Given the description of an element on the screen output the (x, y) to click on. 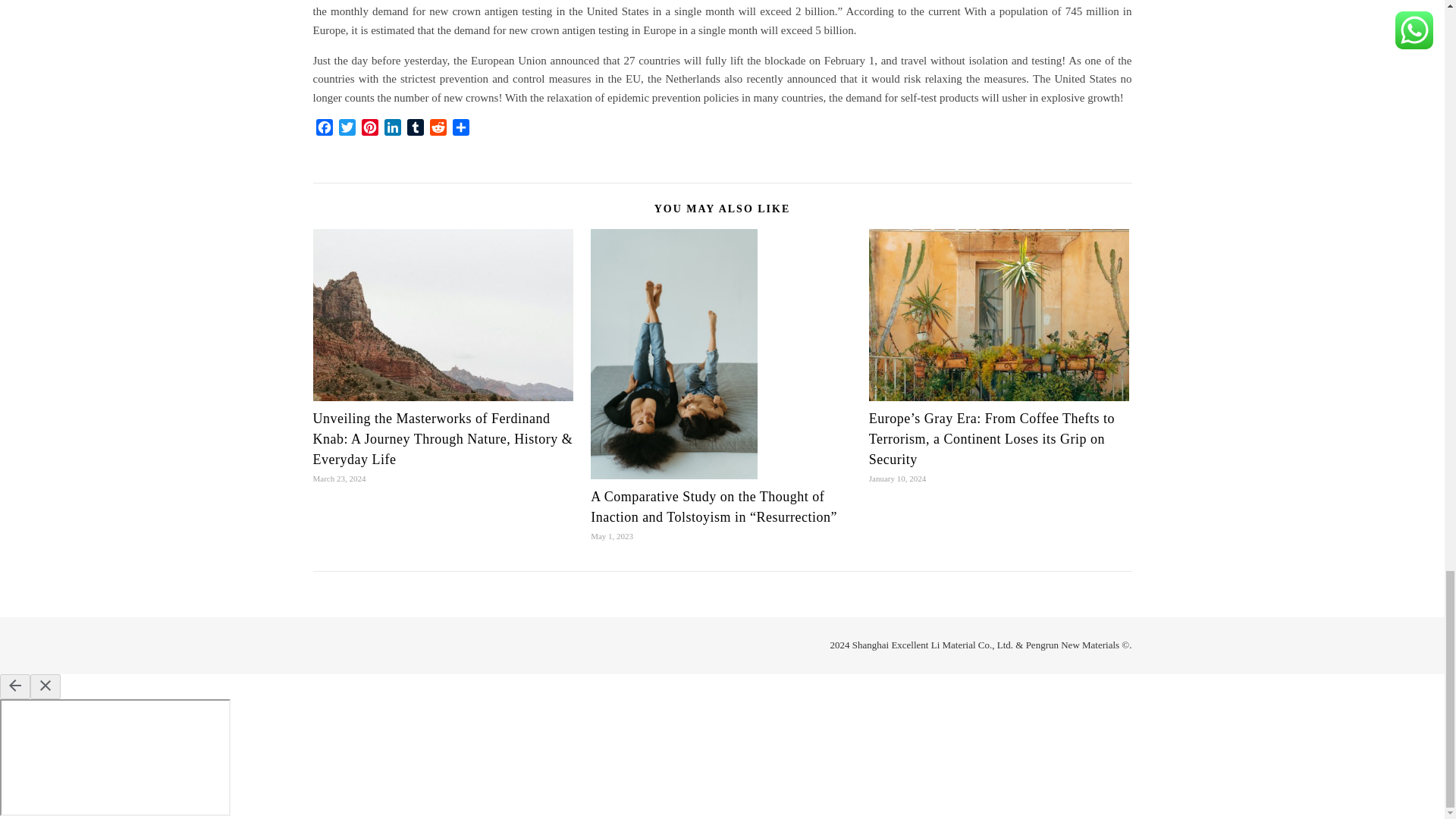
Reddit (437, 129)
Facebook (323, 129)
LinkedIn (391, 129)
LinkedIn (391, 129)
Facebook (323, 129)
Twitter (346, 129)
Tumblr (414, 129)
Pinterest (369, 129)
Twitter (346, 129)
Tumblr (414, 129)
